Given the description of an element on the screen output the (x, y) to click on. 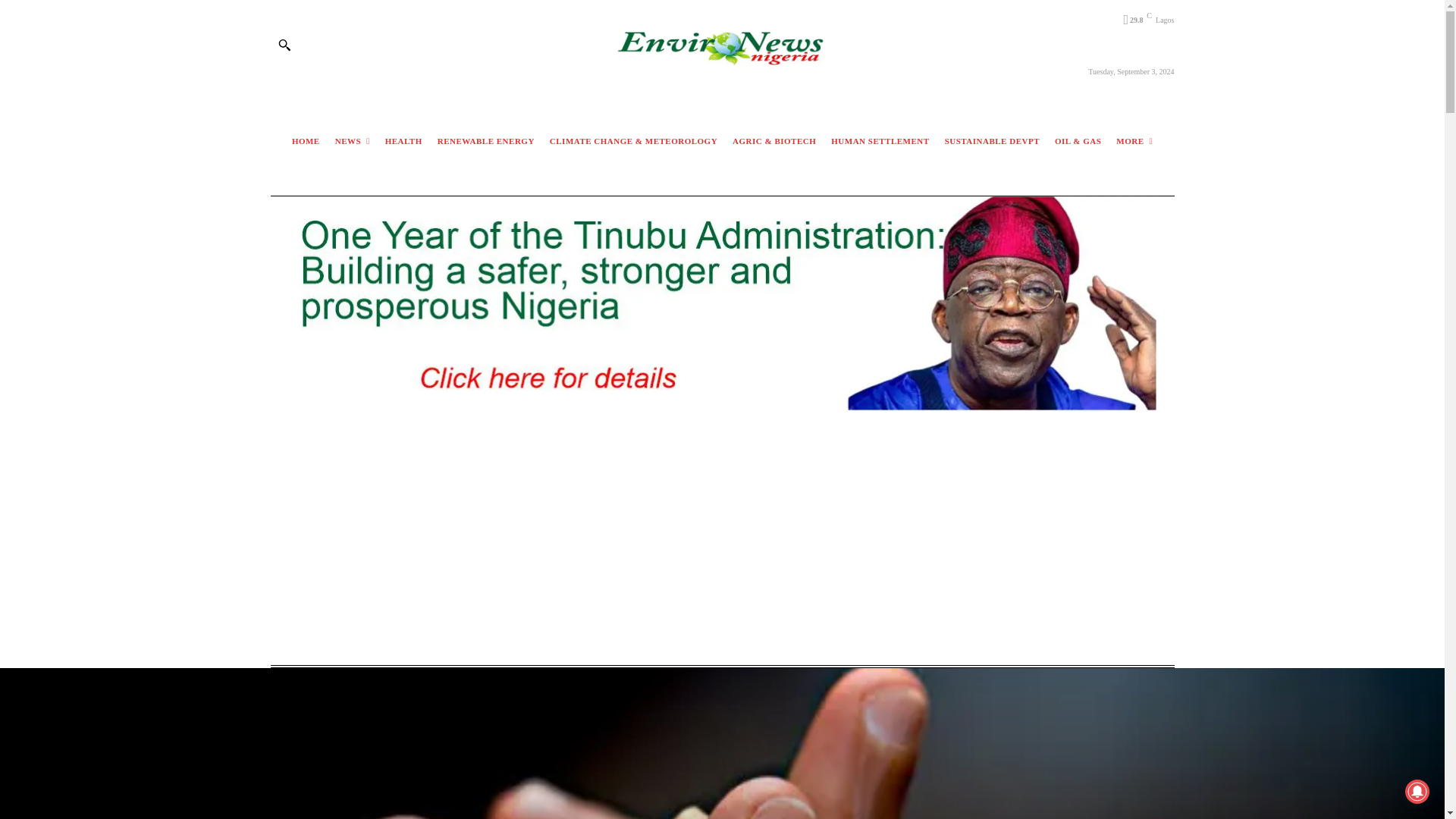
HOME (305, 140)
NEWS (352, 140)
